Given the description of an element on the screen output the (x, y) to click on. 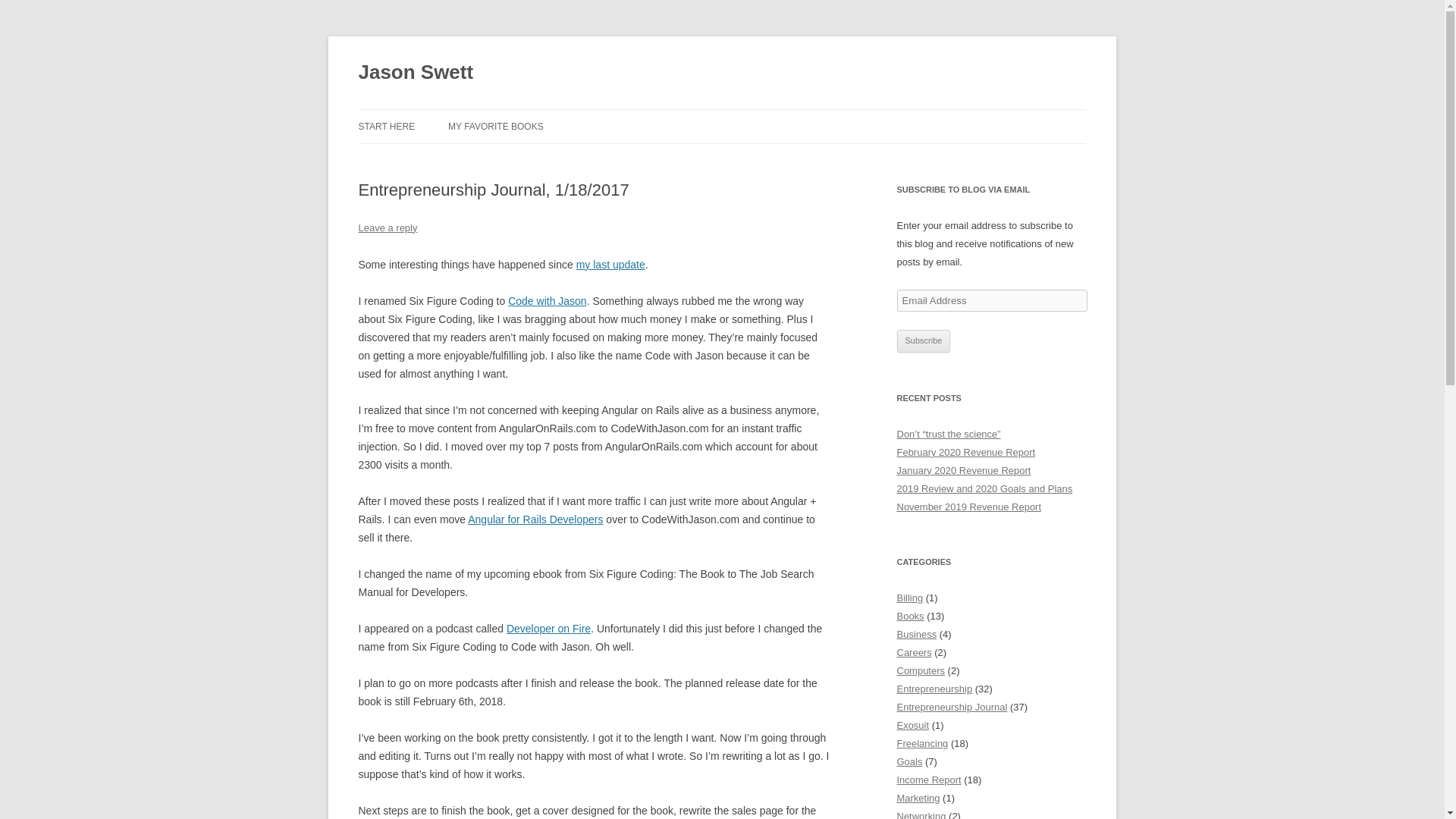
Angular for Rails Developers (534, 519)
2019 Review and 2020 Goals and Plans (983, 488)
Developer on Fire (548, 628)
Careers (913, 652)
Income Report (928, 779)
Networking (920, 814)
Goals (908, 761)
January 2020 Revenue Report (963, 470)
Freelancing (921, 743)
